Given the description of an element on the screen output the (x, y) to click on. 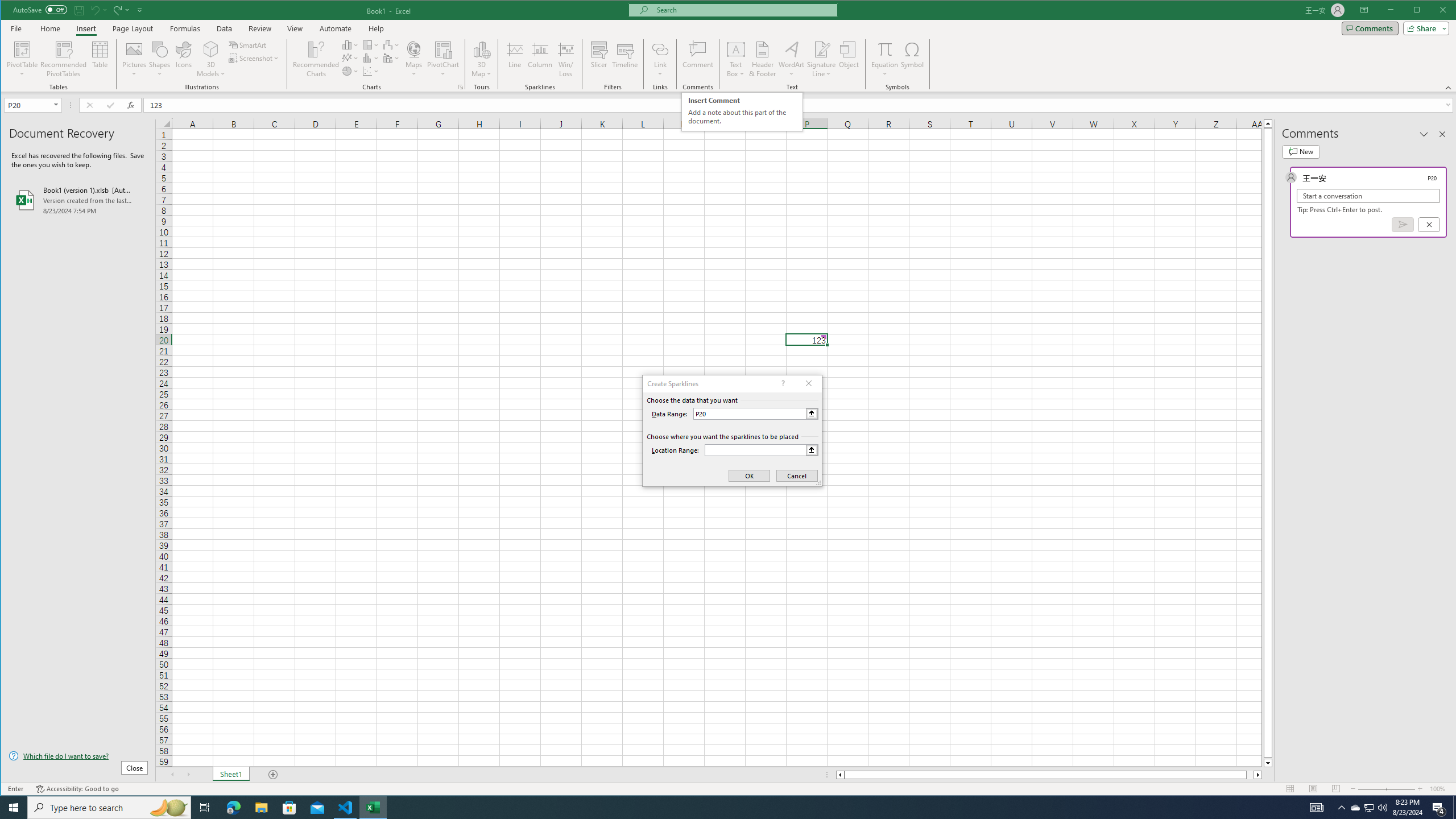
PivotTable (22, 59)
Win/Loss (565, 59)
Recommended Charts (460, 86)
3D Models (211, 59)
Signature Line (821, 59)
Signature Line (821, 48)
